Given the description of an element on the screen output the (x, y) to click on. 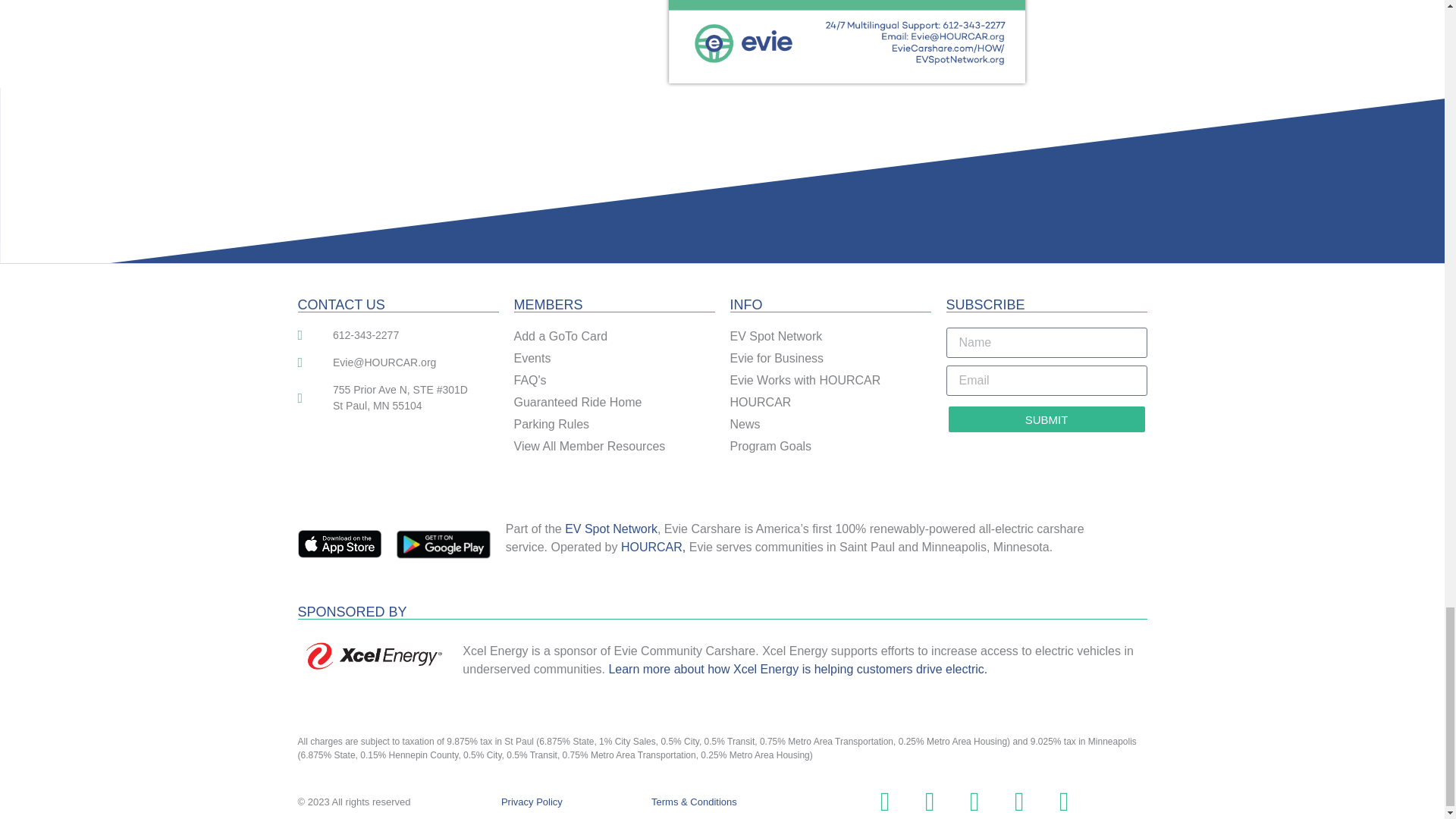
FAQ's (613, 380)
Privacy Policy (531, 801)
Events (613, 358)
HOURCAR (829, 402)
Parking Rules (613, 424)
Program Goals (829, 446)
Guaranteed Ride Home (613, 402)
HOURCAR, (653, 546)
Evie for Business (829, 358)
EV Spot Network (611, 528)
Add a GoTo Card (613, 336)
SUBMIT (1046, 419)
EV Spot Network (829, 336)
Evie Works with HOURCAR (829, 380)
